Given the description of an element on the screen output the (x, y) to click on. 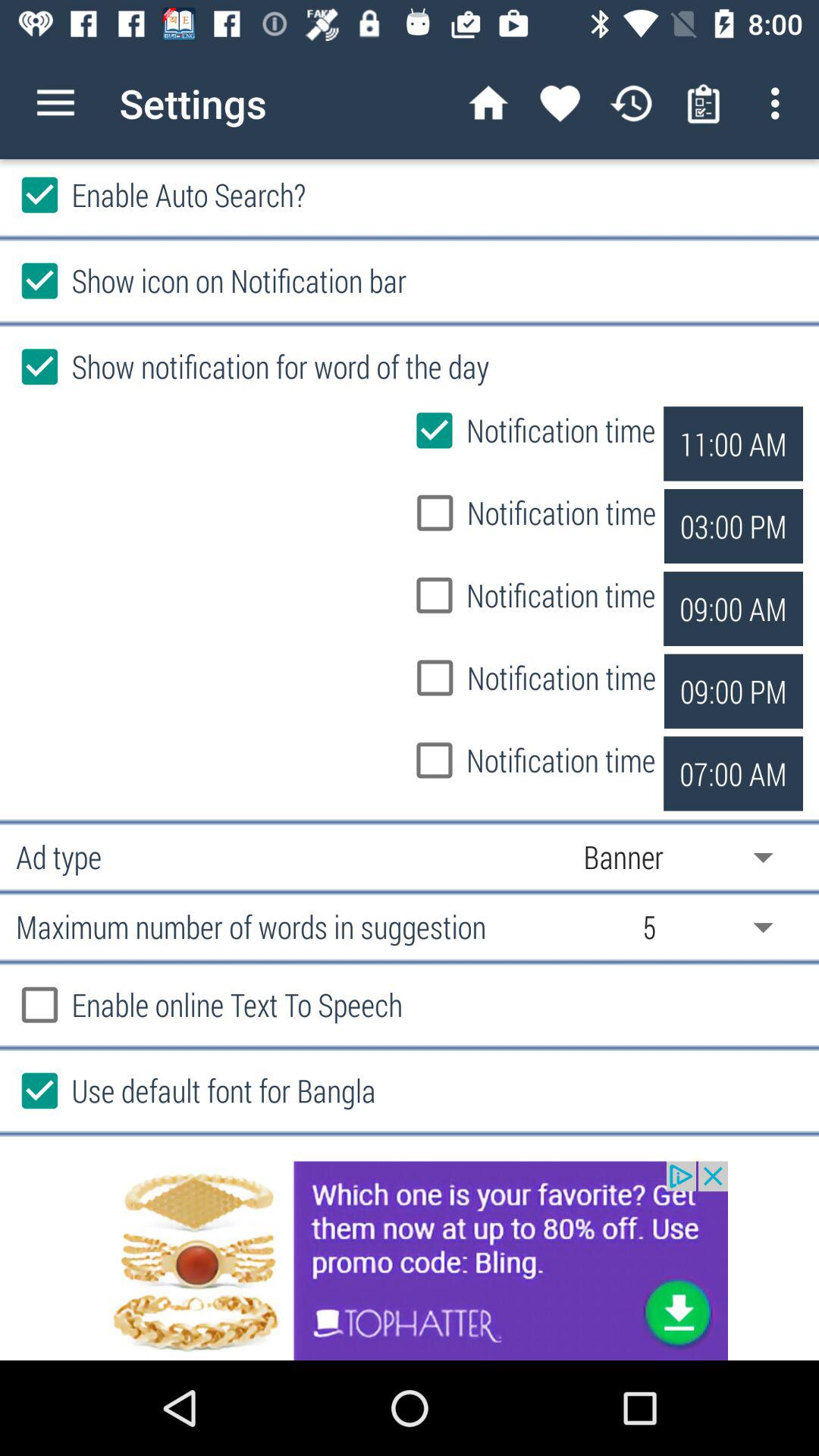
advertisement banner (409, 1260)
